Given the description of an element on the screen output the (x, y) to click on. 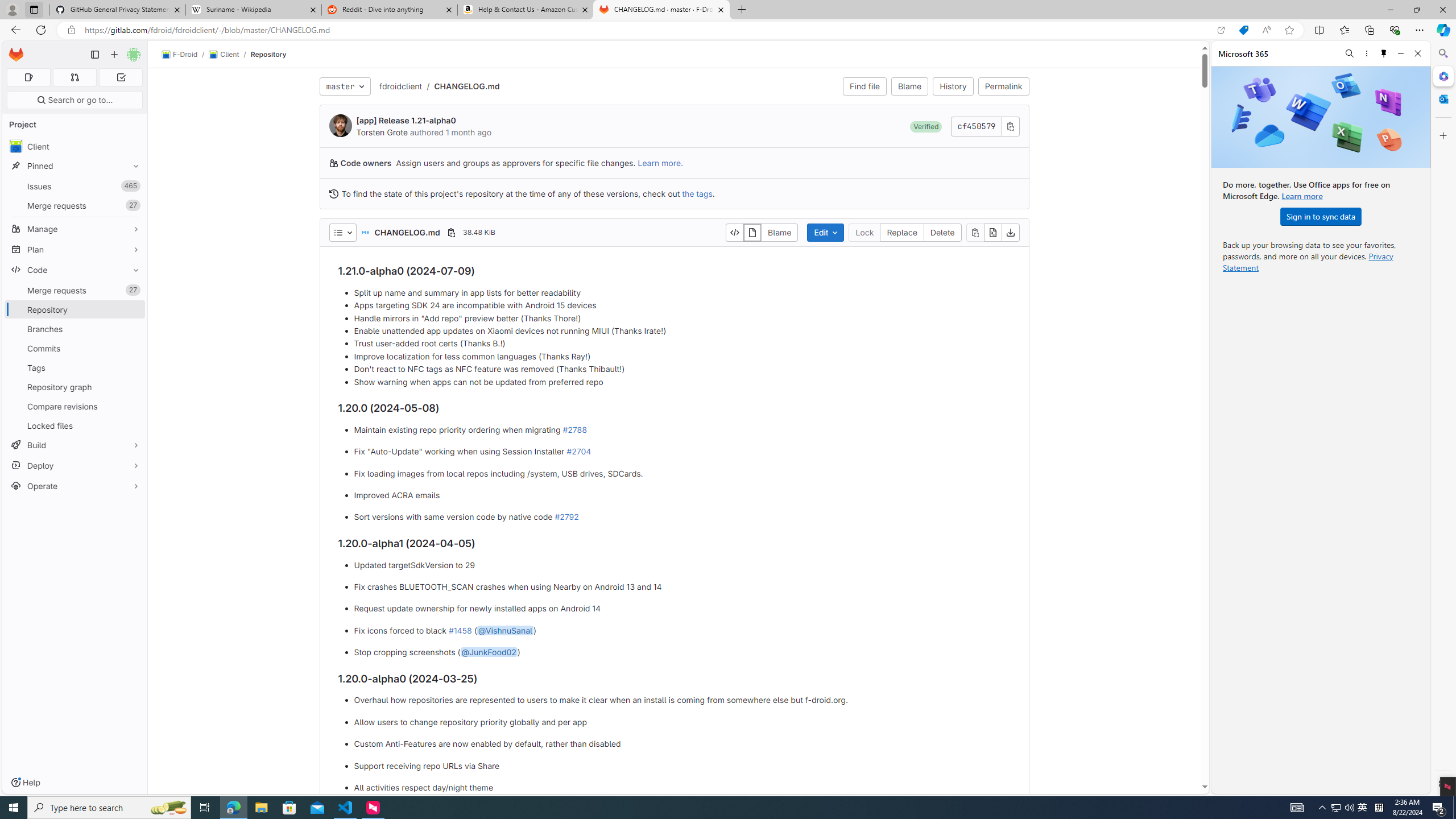
Pin Commits (132, 348)
Pin Locked files (132, 425)
Verified (926, 126)
Stop cropping screenshots (@JunkFood02) (681, 652)
History (953, 85)
Manage (74, 228)
CHANGELOG.md (466, 85)
Support receiving repo URLs via Share (681, 765)
Repository graph (74, 386)
Side bar (1443, 418)
